Given the description of an element on the screen output the (x, y) to click on. 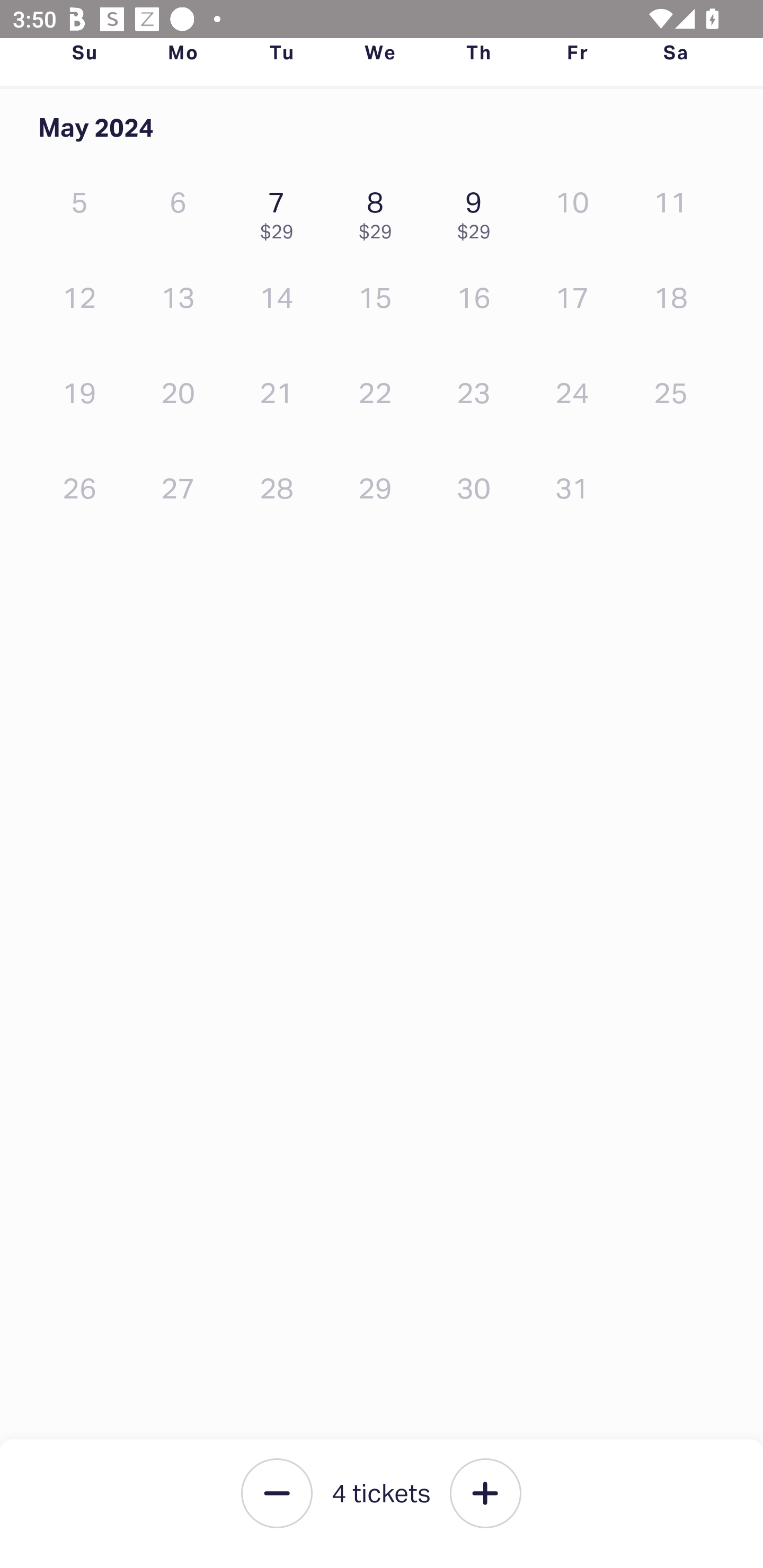
7 $29 (281, 210)
8 $29 (379, 210)
9 $29 (478, 210)
